Given the description of an element on the screen output the (x, y) to click on. 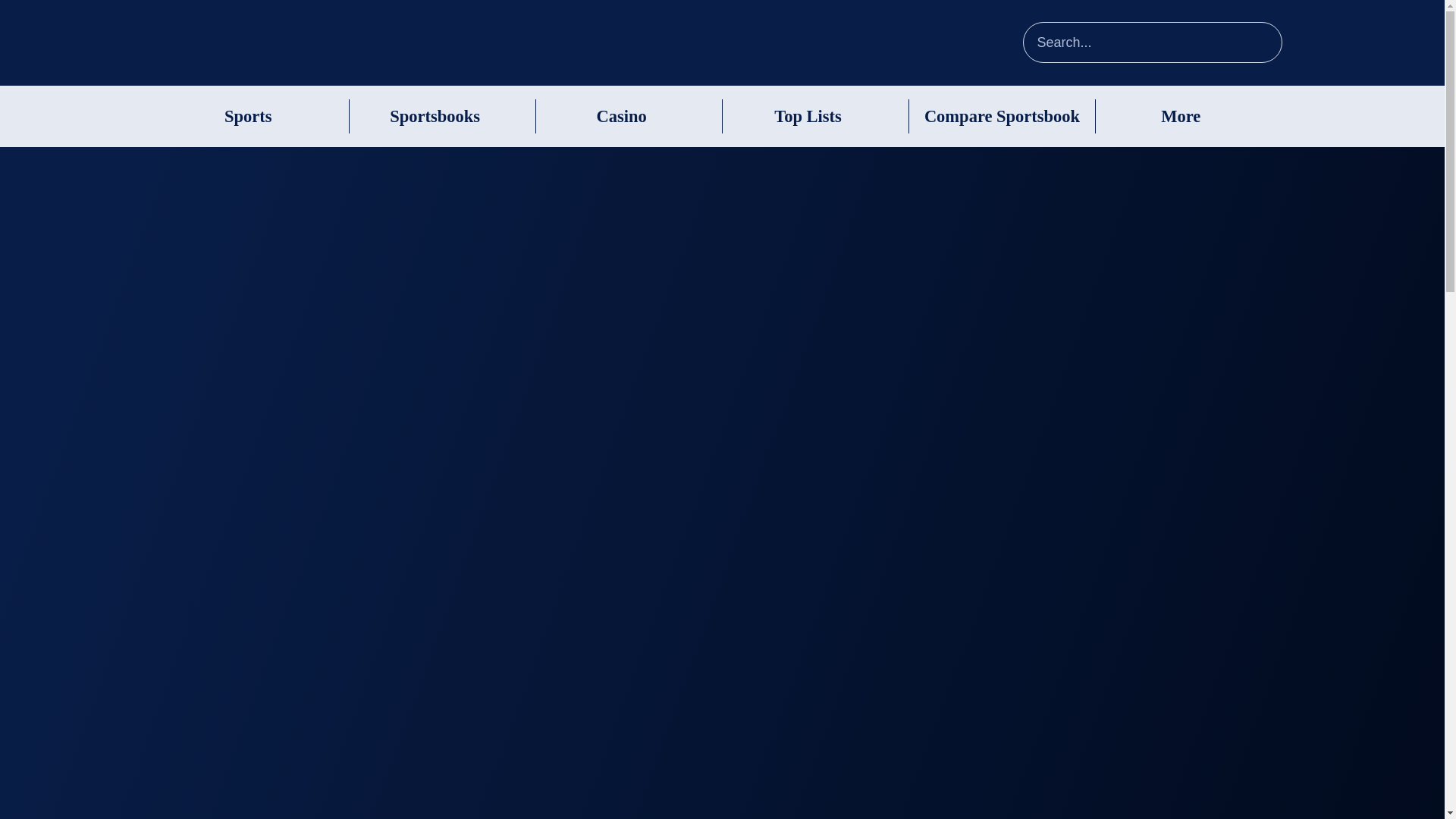
Sportsbooks (435, 116)
Casino (620, 116)
Sports (248, 116)
Top Lists (807, 116)
